Given the description of an element on the screen output the (x, y) to click on. 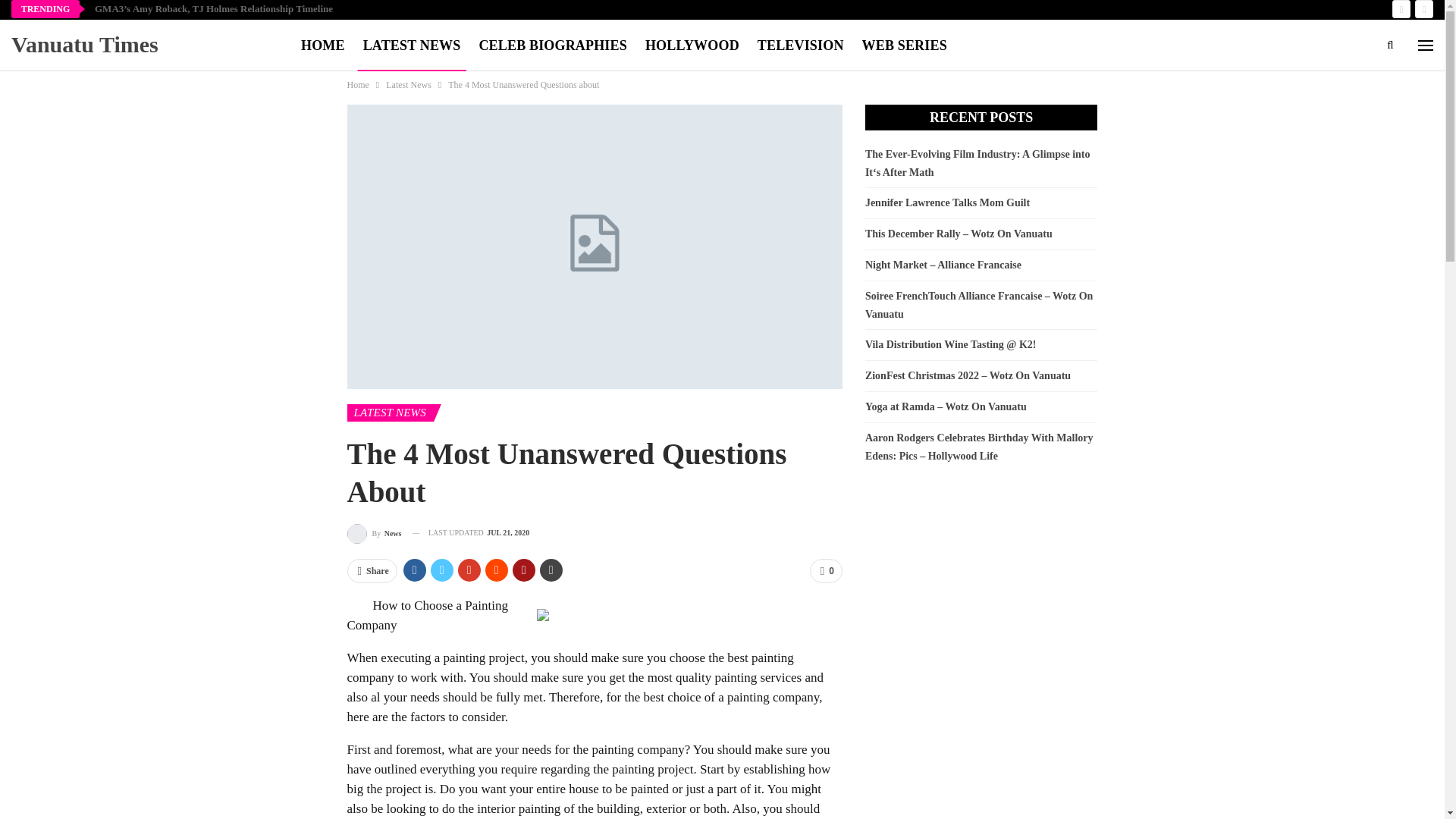
CELEB BIOGRAPHIES (552, 45)
Home (358, 84)
LATEST NEWS (411, 45)
HOME (322, 45)
Vanuatu Times (88, 43)
TELEVISION (800, 45)
Browse Author Articles (374, 533)
By News (374, 533)
HOLLYWOOD (692, 45)
0 (826, 570)
LATEST NEWS (390, 412)
WEB SERIES (904, 45)
Latest News (407, 84)
